Given the description of an element on the screen output the (x, y) to click on. 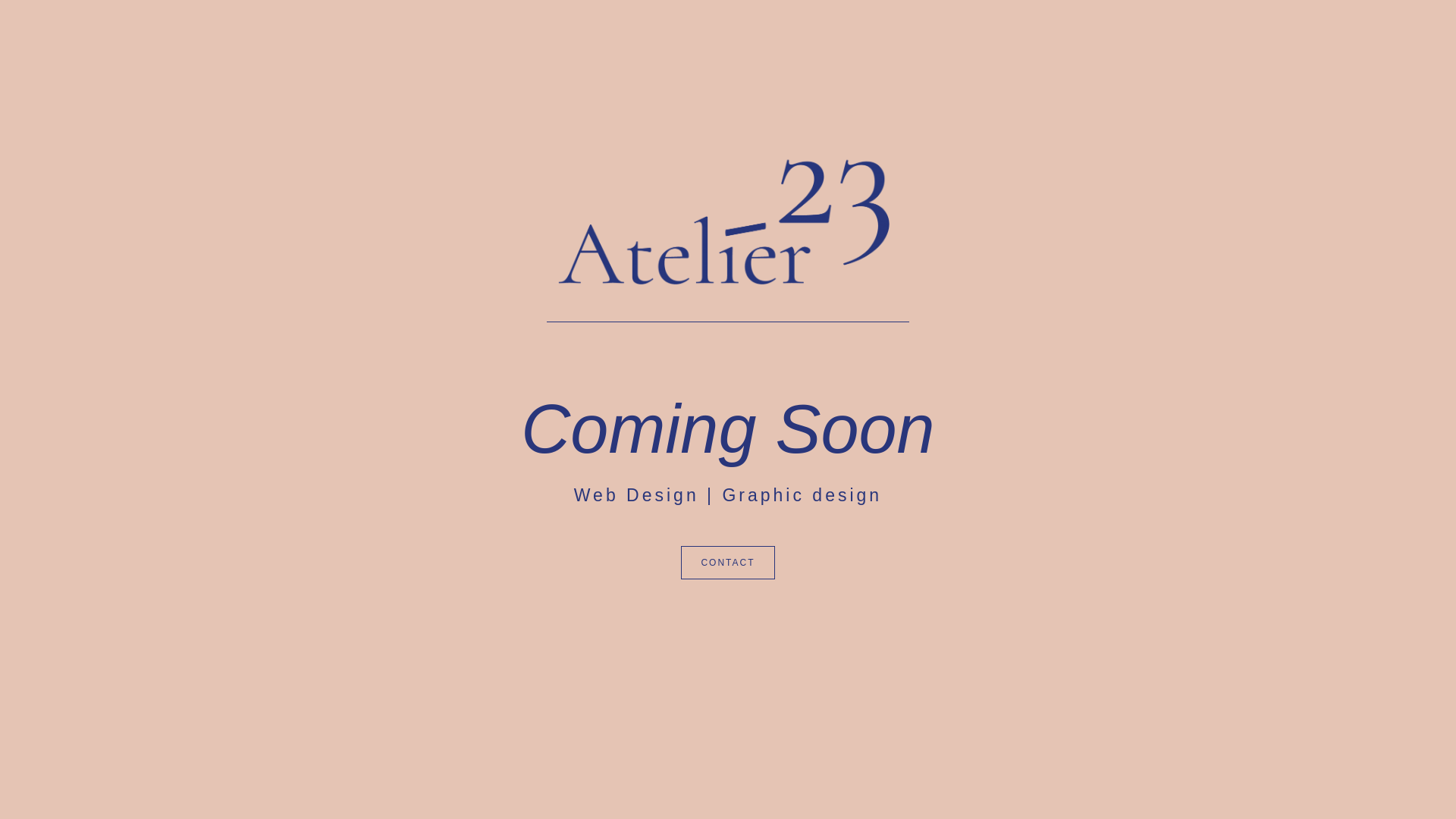
CONTACT Element type: text (727, 562)
